Given the description of an element on the screen output the (x, y) to click on. 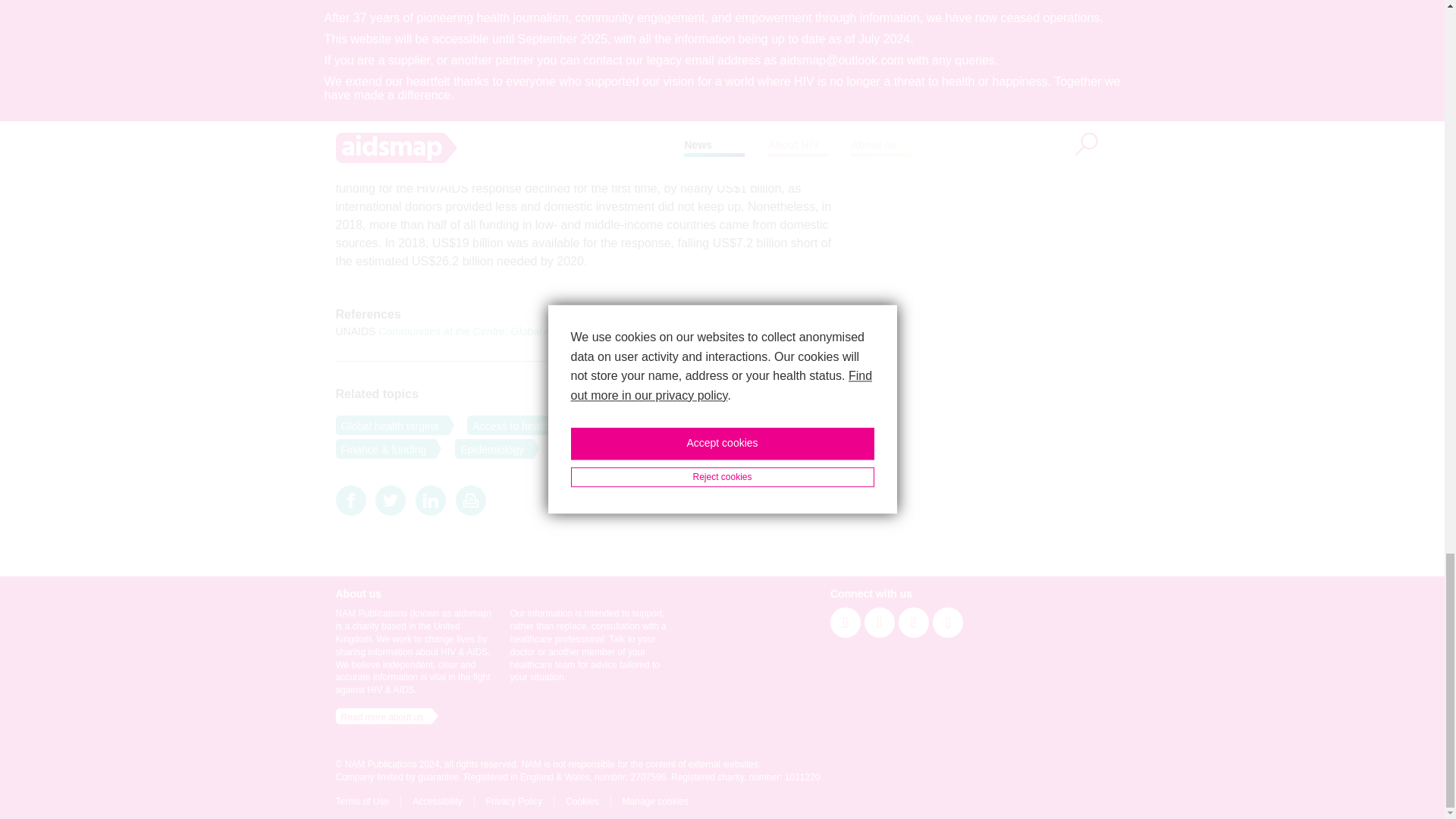
LinkedIn (429, 500)
Access to healthcare (518, 424)
Communities at the Centre: Global AIDS Update 2019 (504, 331)
Facebook (349, 500)
Global health targets (386, 424)
More news from IAS 2019 (771, 152)
Print (470, 500)
Epidemiology (489, 448)
Twitter (390, 500)
Global health initiatives (656, 424)
